Given the description of an element on the screen output the (x, y) to click on. 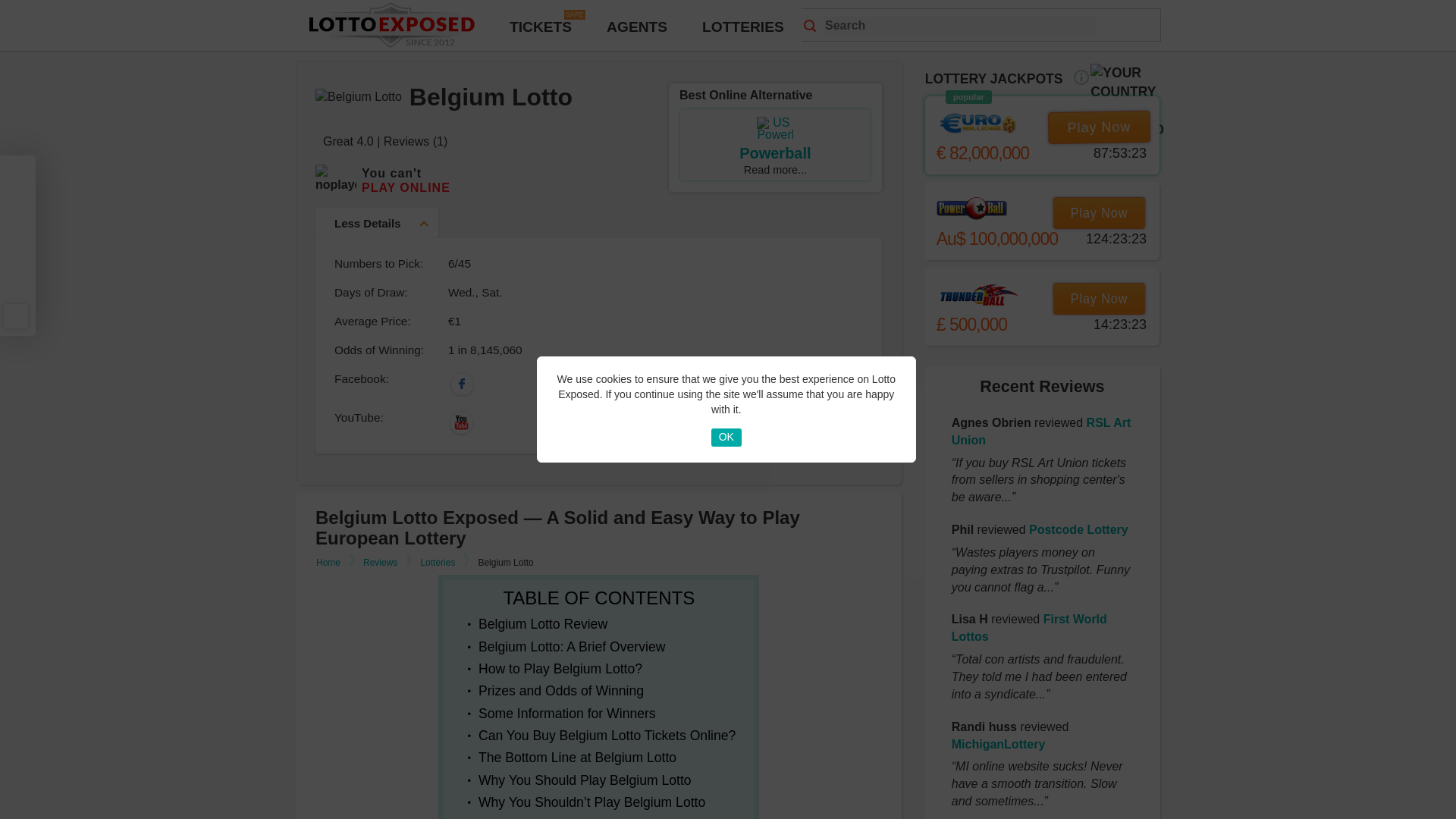
Belgium Lotto Review (543, 623)
Share via Messenger (15, 288)
Play Now (1104, 298)
Prizes and Odds of Winning (561, 690)
Is Belgium Lotto Legit? (546, 817)
Why You Should Play Belgium Lotto (585, 780)
Share on Twitter (15, 202)
Home (335, 562)
Share via Telegram (15, 259)
Youtube Channel (485, 422)
